Given the description of an element on the screen output the (x, y) to click on. 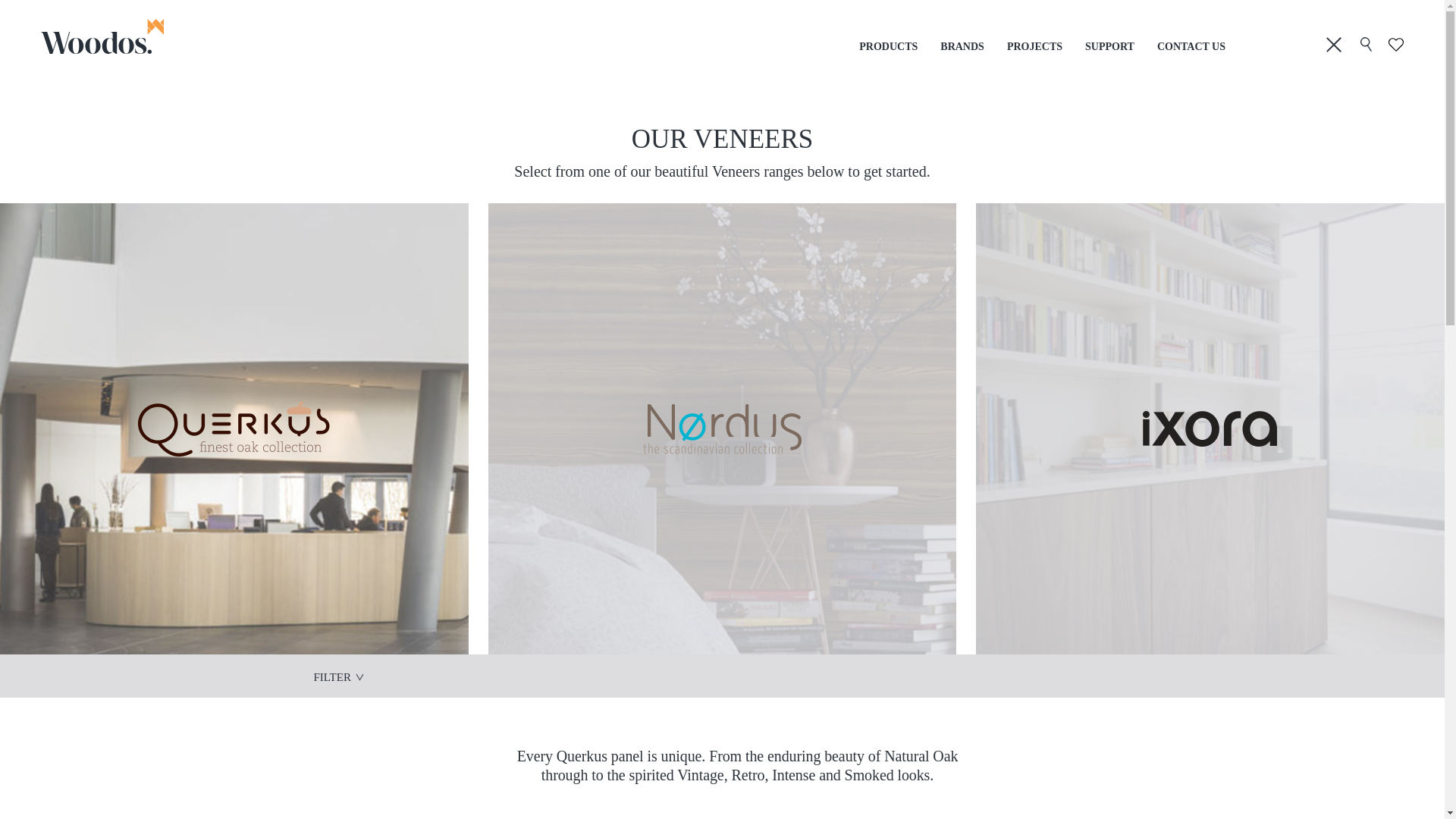
FILTER (338, 677)
PRODUCTS (888, 46)
PROJECTS (1034, 46)
SUPPORT (1109, 46)
CONTACT US (1191, 46)
BRANDS (962, 46)
